Given the description of an element on the screen output the (x, y) to click on. 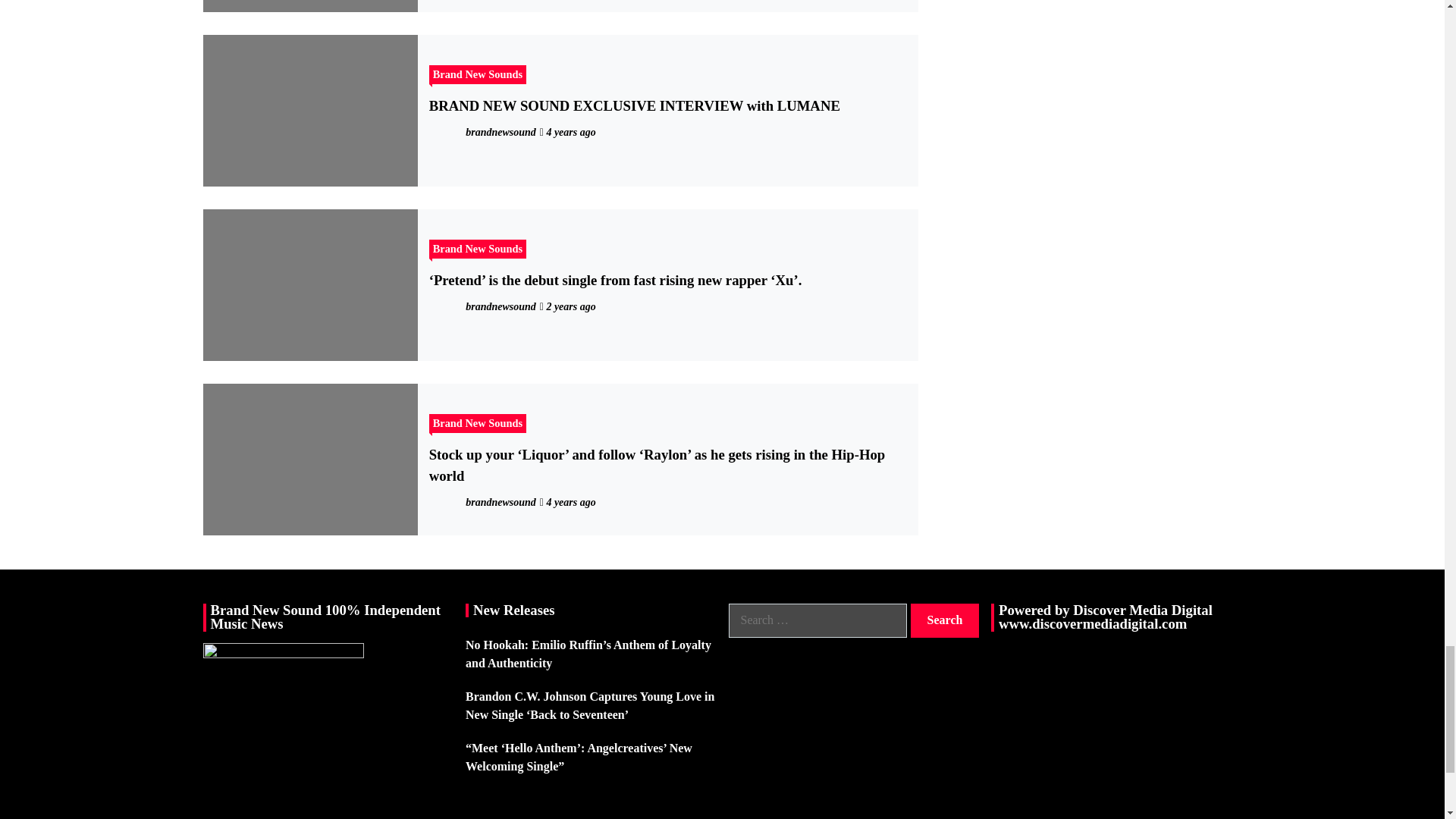
Search (944, 620)
Search (944, 620)
